Given the description of an element on the screen output the (x, y) to click on. 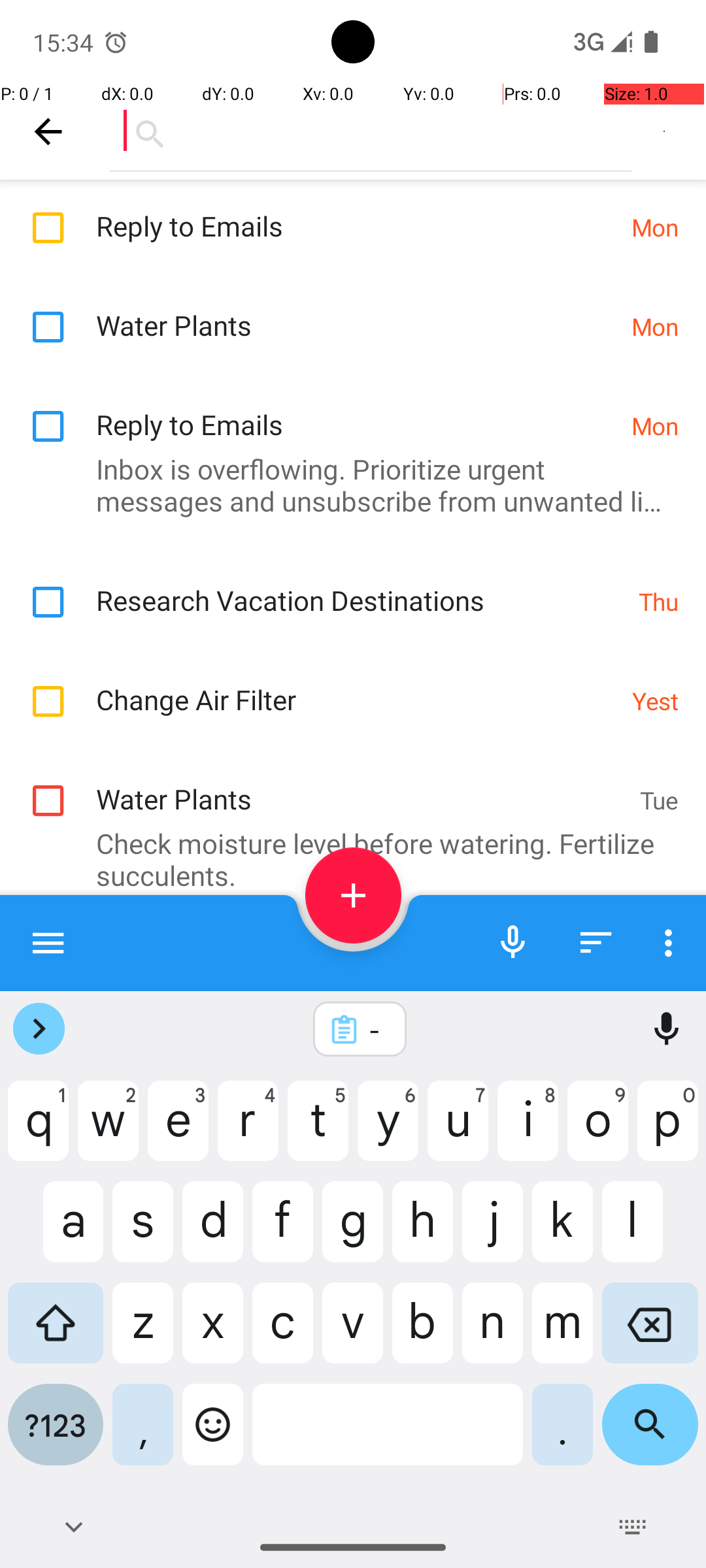
    Element type: android.widget.AutoCompleteTextView (370, 130)
